Given the description of an element on the screen output the (x, y) to click on. 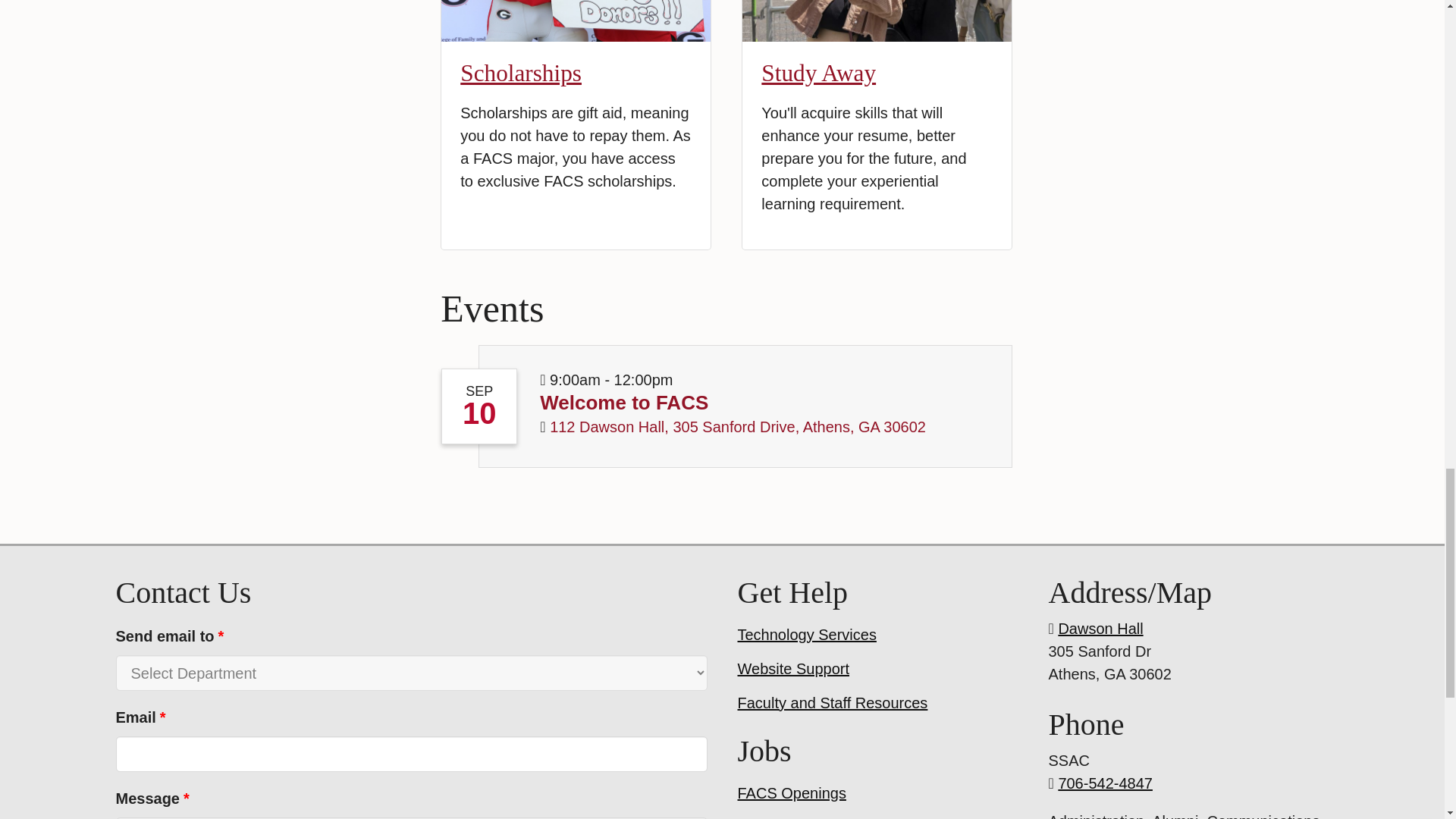
Study Away (818, 72)
Welcome to FACS (623, 402)
112 Dawson Hall, 305 Sanford Drive, Athens, GA 30602 (738, 426)
Scholarships (520, 72)
